Given the description of an element on the screen output the (x, y) to click on. 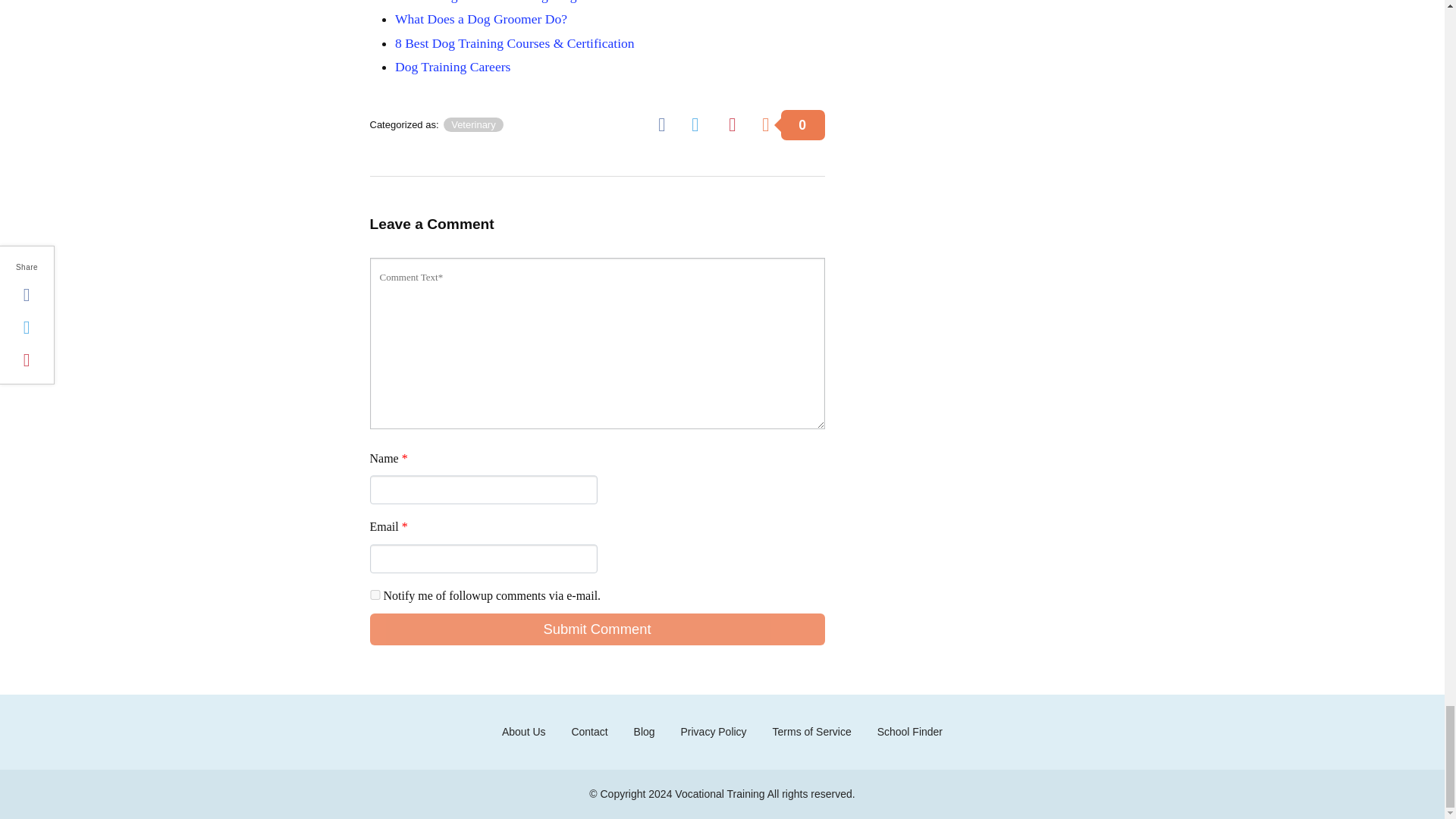
Share on Facebook (667, 123)
Online Dog Trainer Training Programs (498, 1)
What Does a Dog Groomer Do? (480, 18)
View all posts on Veterinary (473, 124)
Submit Comment (597, 629)
Share on Twitter (700, 123)
Share on Pinterest (737, 123)
yes (374, 594)
Comment on This Post (792, 123)
Dog Training Careers (452, 66)
